Given the description of an element on the screen output the (x, y) to click on. 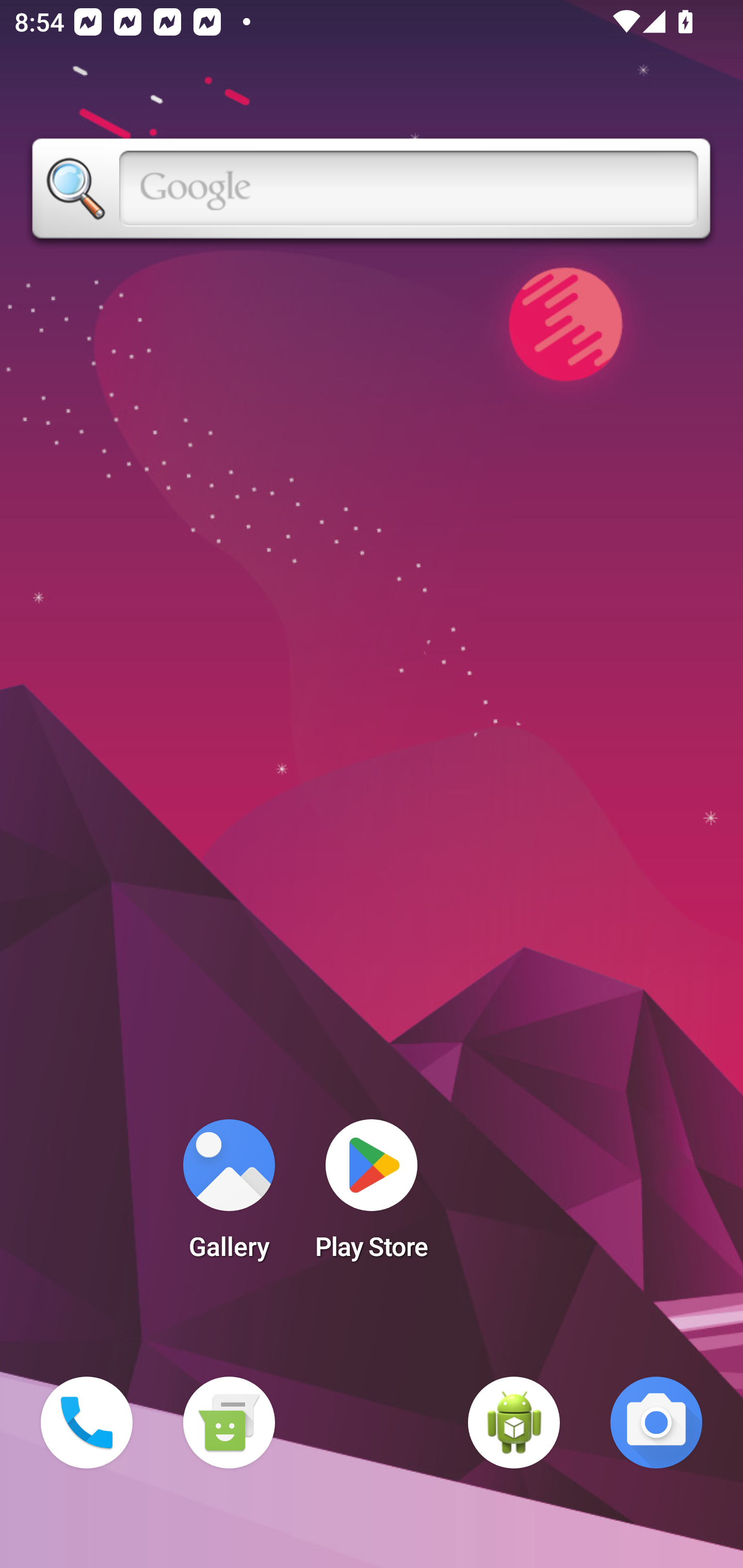
Gallery (228, 1195)
Play Store (371, 1195)
Phone (86, 1422)
Messaging (228, 1422)
WebView Browser Tester (513, 1422)
Camera (656, 1422)
